Given the description of an element on the screen output the (x, y) to click on. 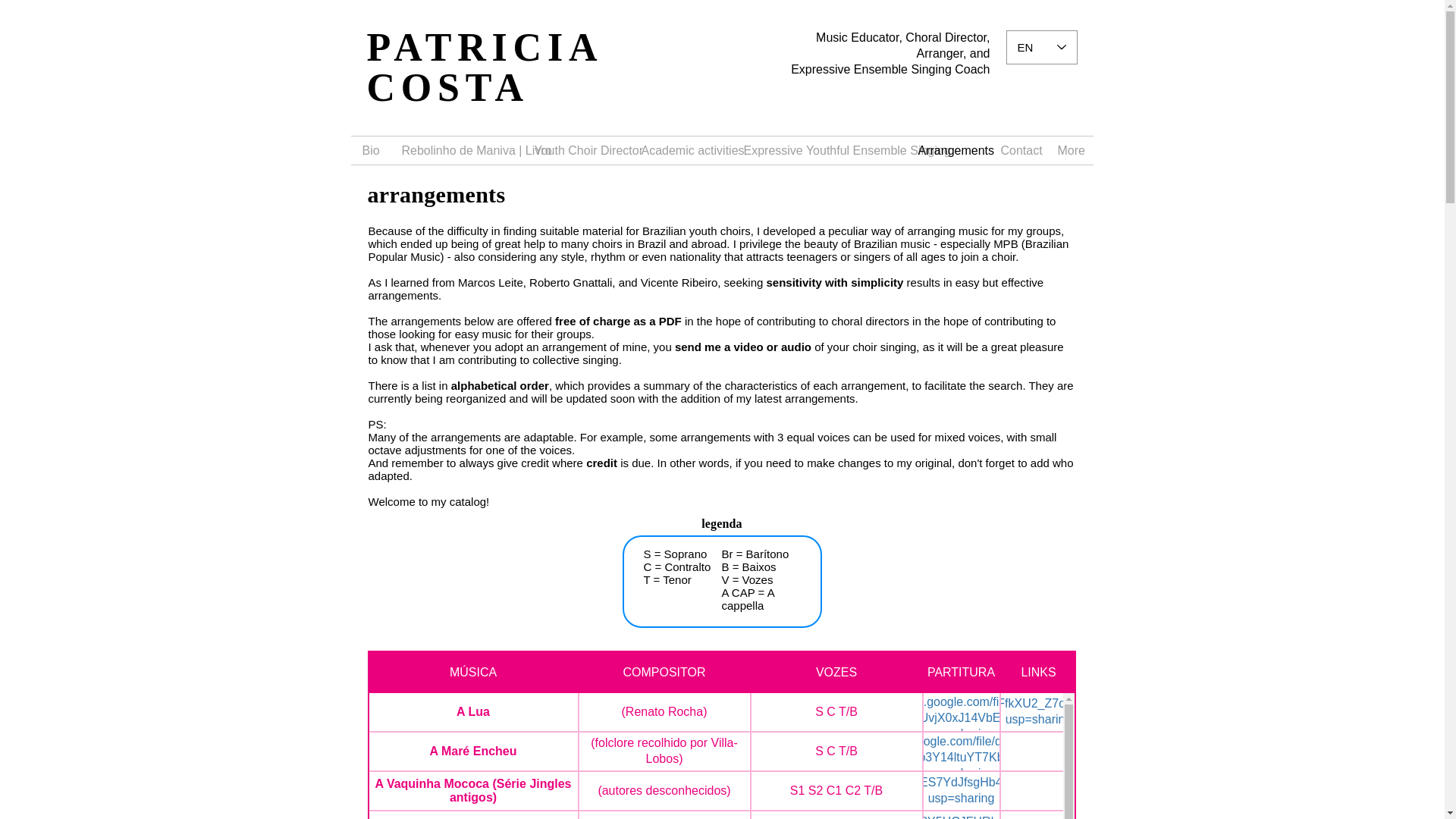
Youth Choir Director (576, 150)
Bio (370, 150)
PATRICIA COSTA (483, 66)
